Given the description of an element on the screen output the (x, y) to click on. 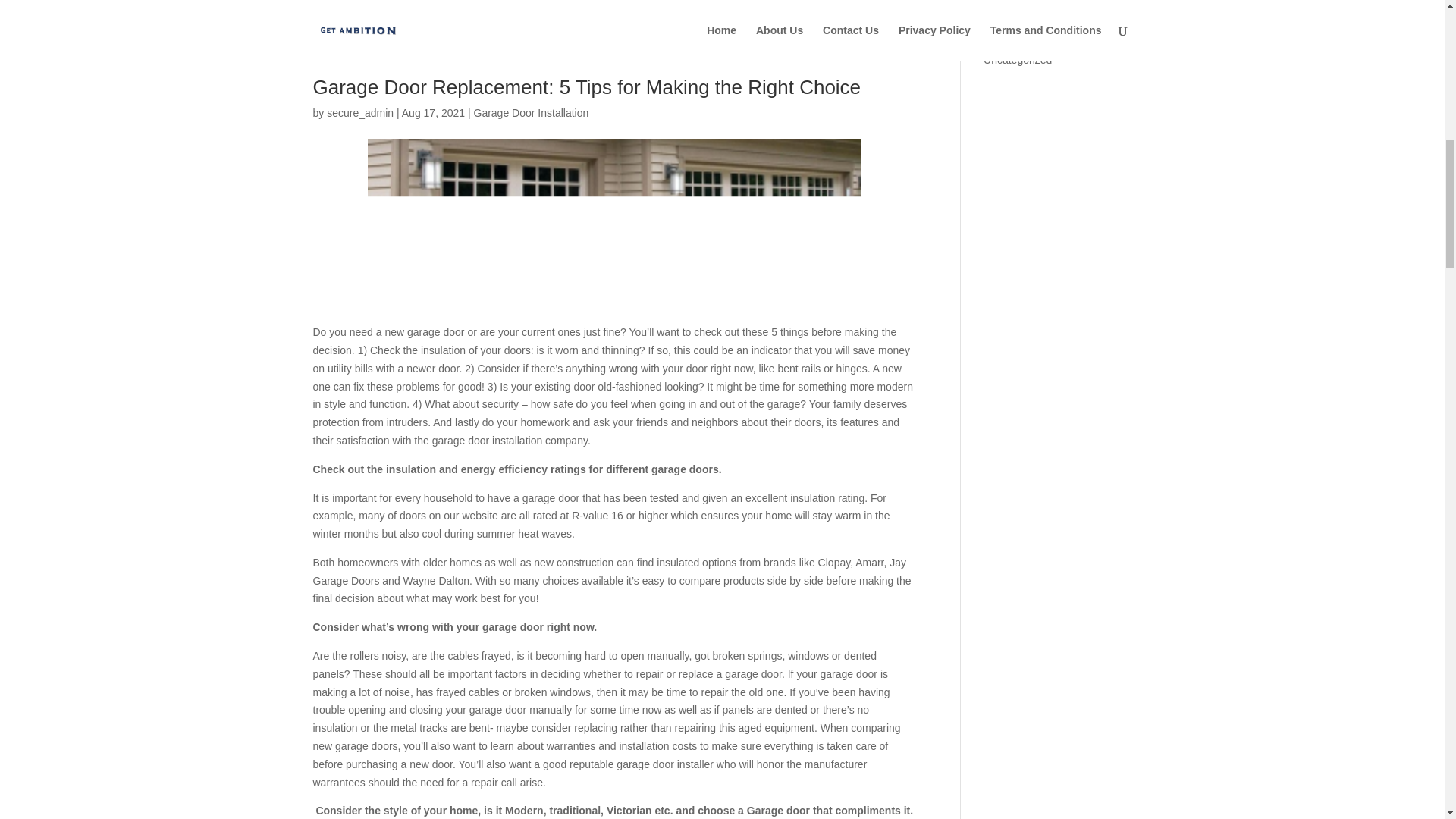
Garage Door Installation (530, 112)
ADU builders in San Mateo, California (786, 5)
Garage Door Replacement: 5 Tips for Making the Right Choice (586, 87)
